Given the description of an element on the screen output the (x, y) to click on. 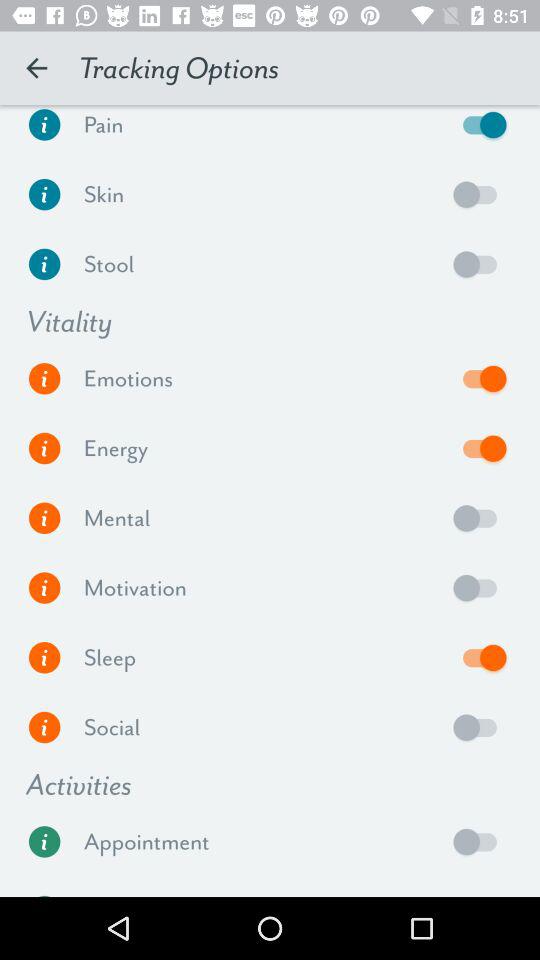
see more information (44, 587)
